Given the description of an element on the screen output the (x, y) to click on. 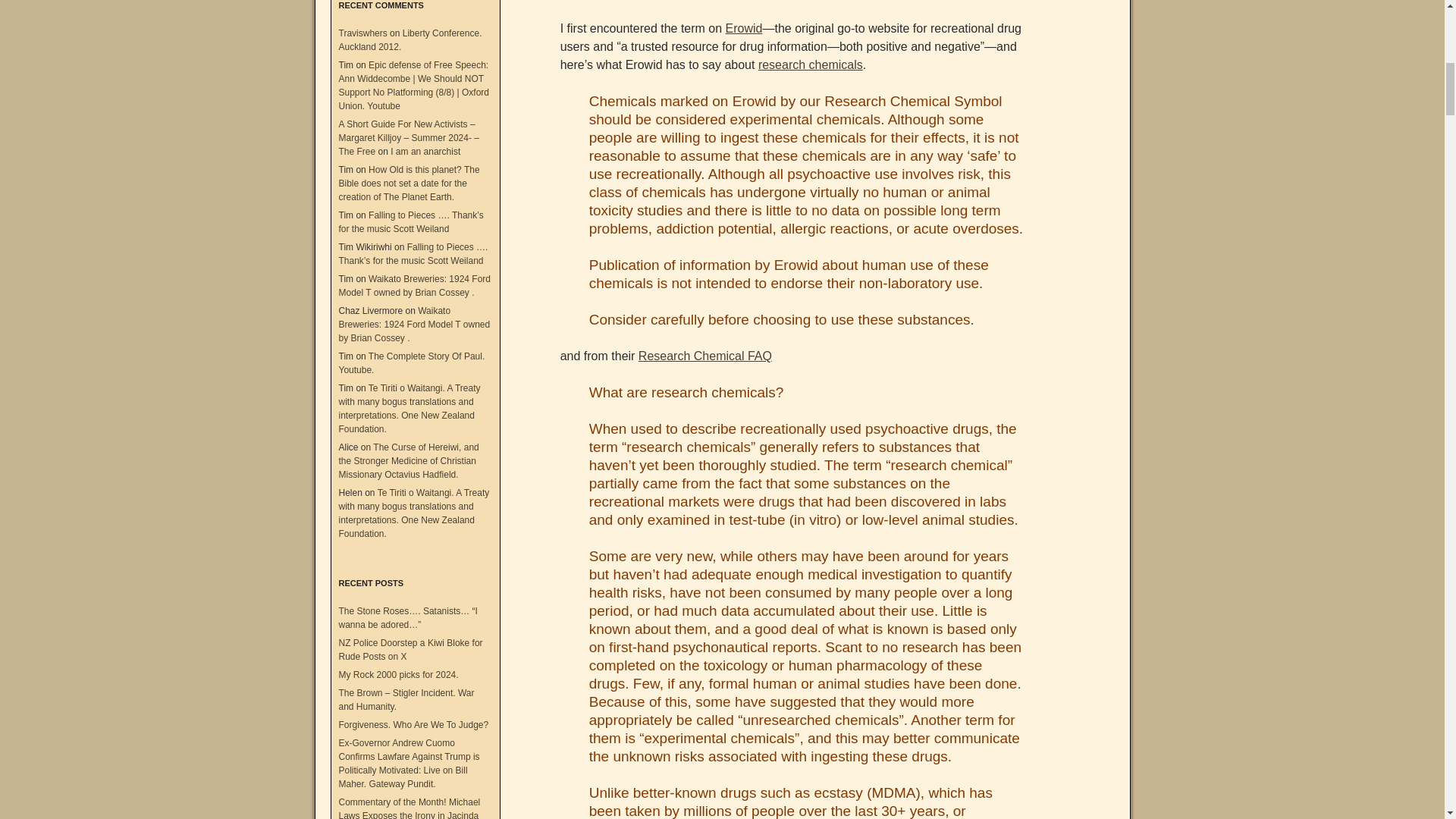
research chemicals (810, 64)
Research Chemical FAQ (705, 355)
Erowid (743, 28)
